Given the description of an element on the screen output the (x, y) to click on. 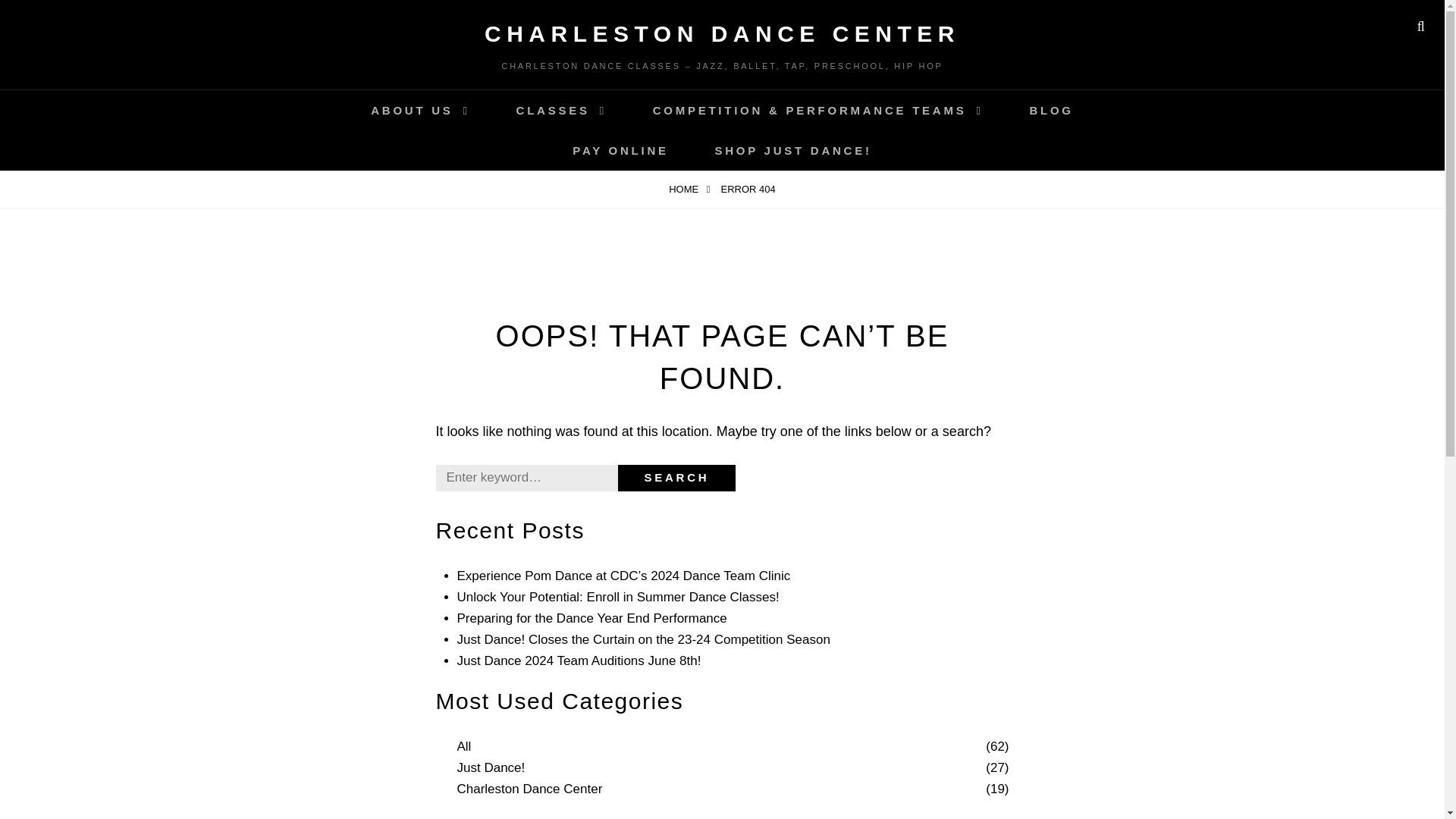
ABOUT US (420, 110)
Just Dance 2024 Team Auditions June 8th! (578, 660)
CLASSES (561, 110)
CHARLESTON DANCE CENTER (721, 33)
Unlock Your Potential: Enroll in Summer Dance Classes! (617, 596)
Charleston Dance Center (529, 789)
BLOG (1050, 110)
Just Dance! (490, 767)
HOME (688, 189)
SHOP JUST DANCE! (792, 150)
SEARCH (676, 478)
PAY ONLINE (619, 150)
Preparing for the Dance Year End Performance (591, 617)
